Given the description of an element on the screen output the (x, y) to click on. 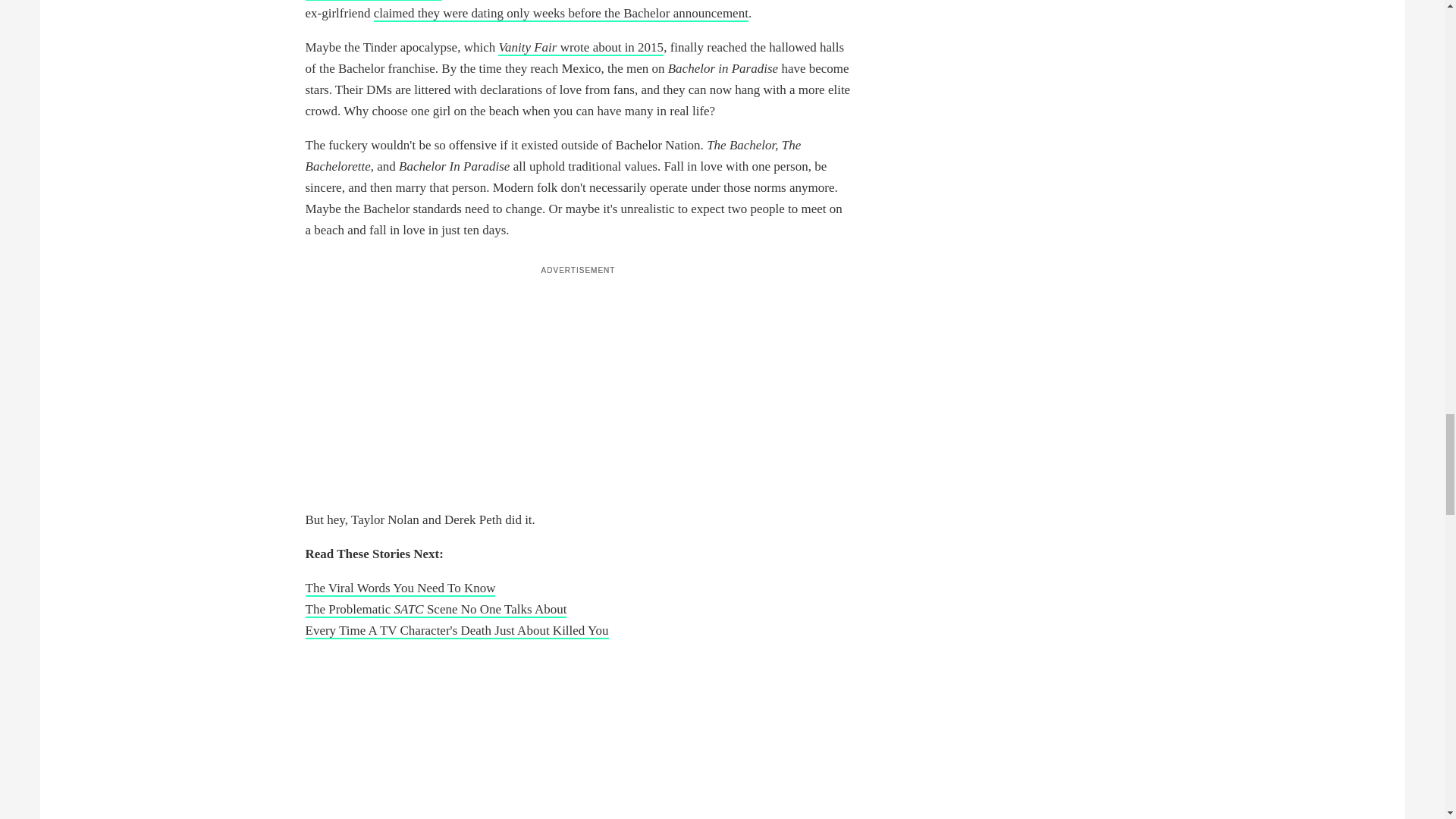
The Viral Words You Need To Know (399, 588)
The Problematic SATC Scene No One Talks About (435, 609)
Vanity Fair wrote about in 2015 (580, 48)
Every Time A TV Character's Death Just About Killed You (456, 631)
